Given the description of an element on the screen output the (x, y) to click on. 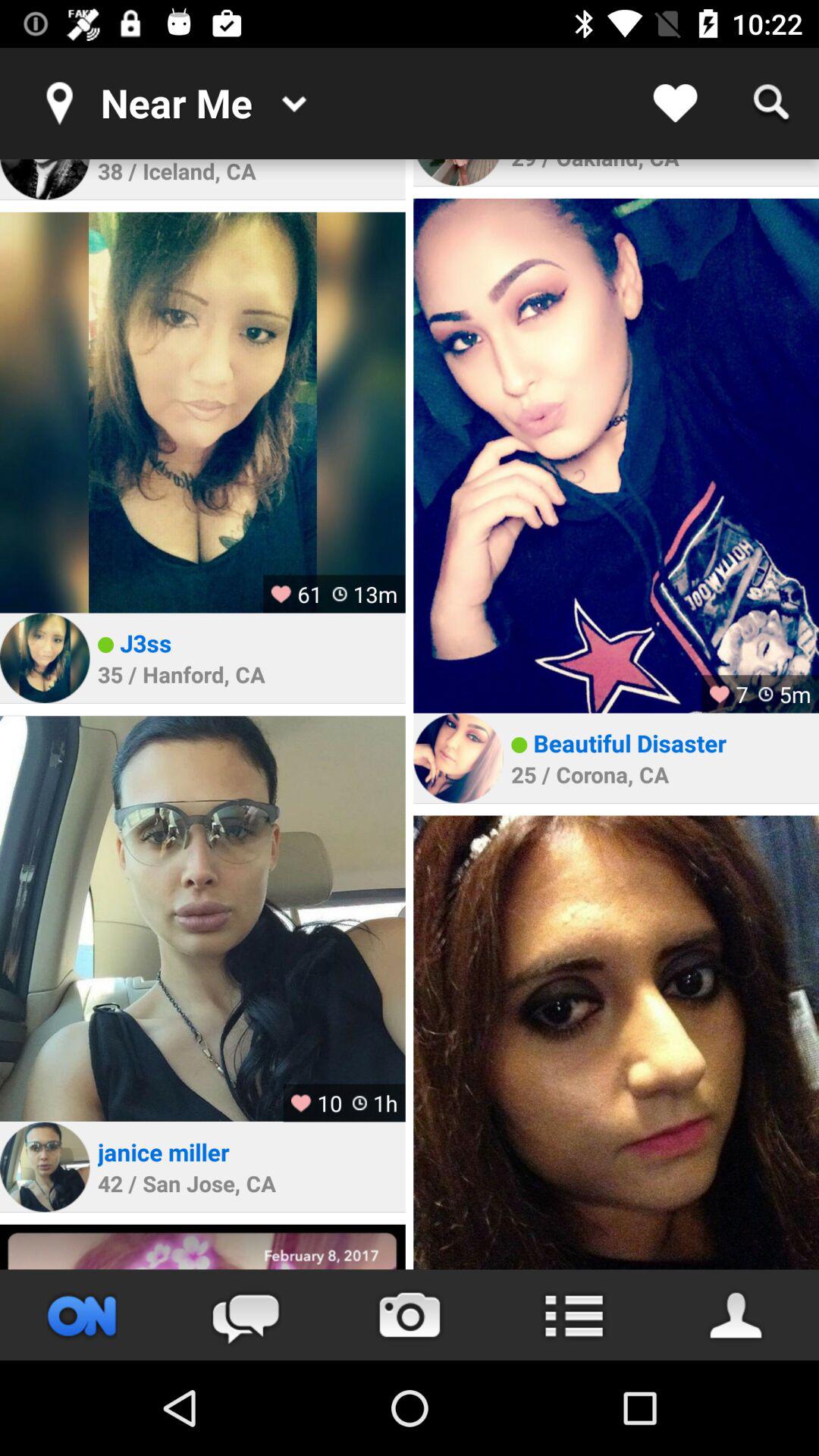
open person 's profile (202, 412)
